Given the description of an element on the screen output the (x, y) to click on. 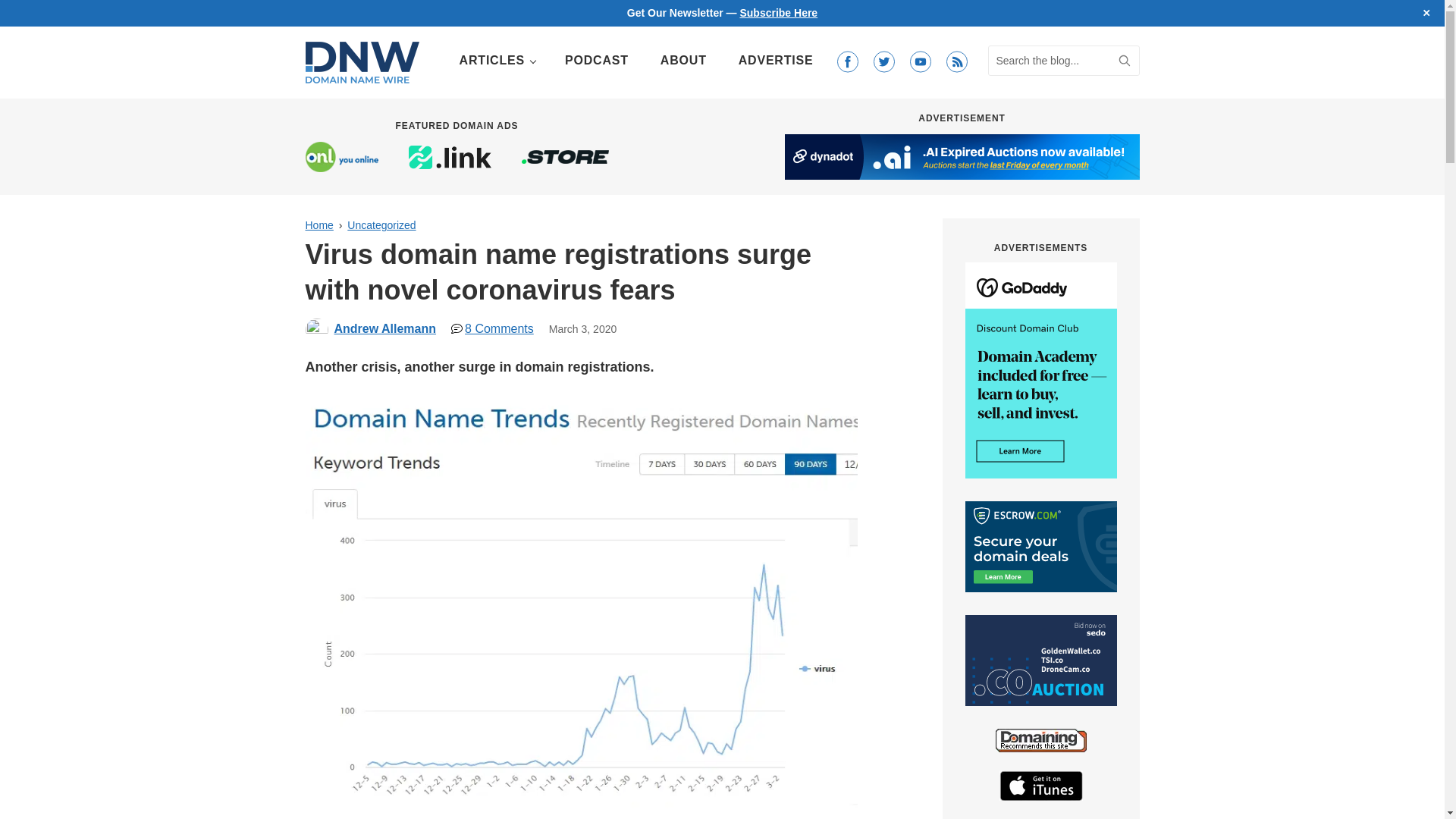
Home (318, 224)
PODCAST (596, 60)
ARTICLES (495, 60)
Andrew Allemann (384, 328)
Submit search (1123, 60)
DomainScope (813, 818)
Uncategorized (380, 224)
8 Comments (492, 328)
ADVERTISE (775, 60)
Subscribe Here (777, 12)
Submit search (1123, 60)
Submit search (1123, 60)
ABOUT (683, 60)
